Given the description of an element on the screen output the (x, y) to click on. 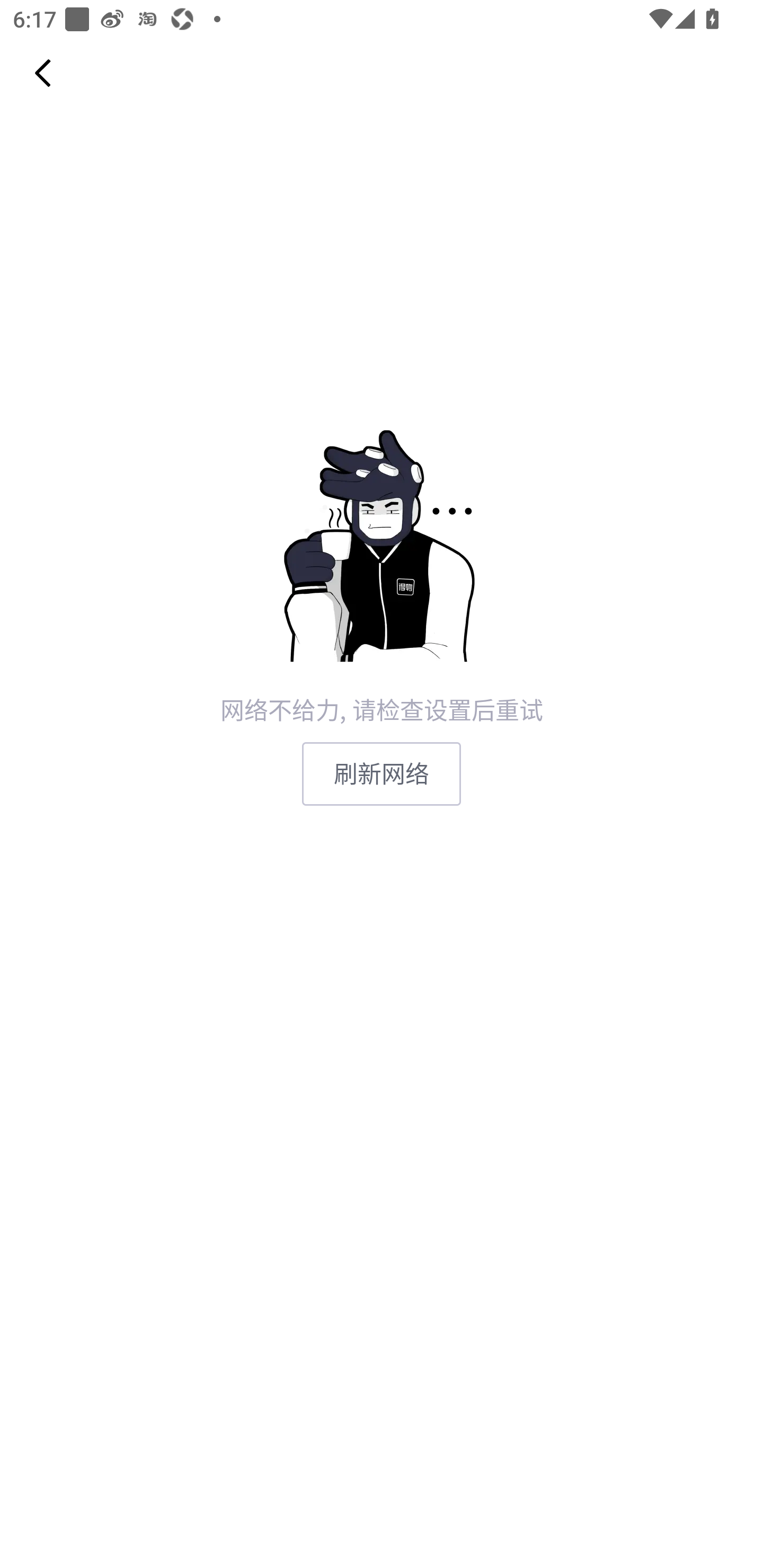
刷新网络 (381, 773)
